Given the description of an element on the screen output the (x, y) to click on. 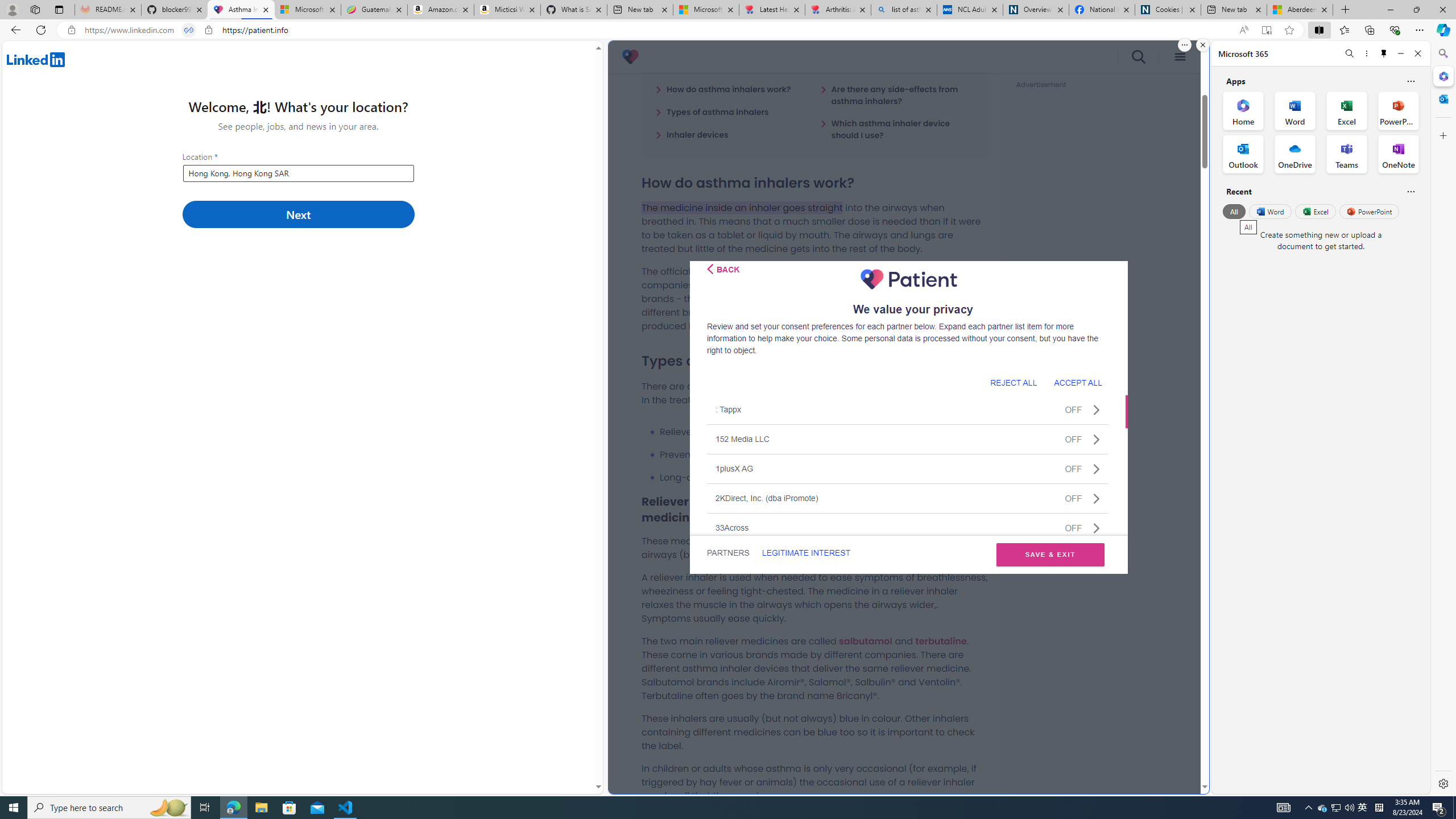
Unpin side pane (1383, 53)
Are there any side-effects from asthma inhalers? (897, 94)
Class: css-jswnc6 (1096, 527)
More options. (1183, 45)
search (1138, 56)
Relievers (short-acting bronchodilators). (823, 431)
menu icon (1179, 56)
Close Customize pane (1442, 135)
Preventers (steroid inhalers). (823, 454)
Home Office App (1243, 110)
